Given the description of an element on the screen output the (x, y) to click on. 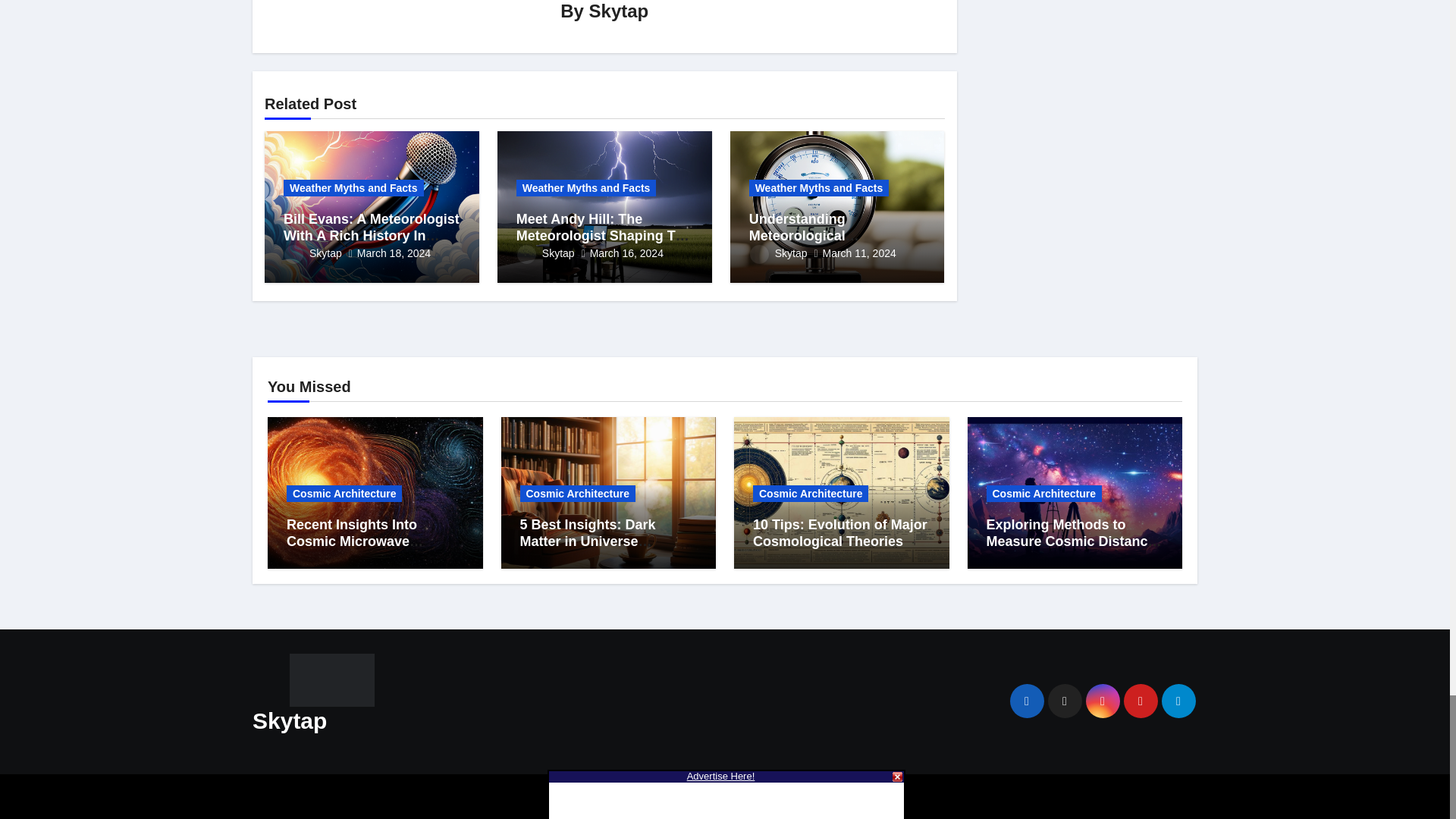
Skytap (619, 10)
March 18, 2024 (393, 253)
March 16, 2024 (626, 253)
Skytap (778, 253)
Weather Myths and Facts (819, 187)
Skytap (545, 253)
Weather Myths and Facts (353, 187)
